Given the description of an element on the screen output the (x, y) to click on. 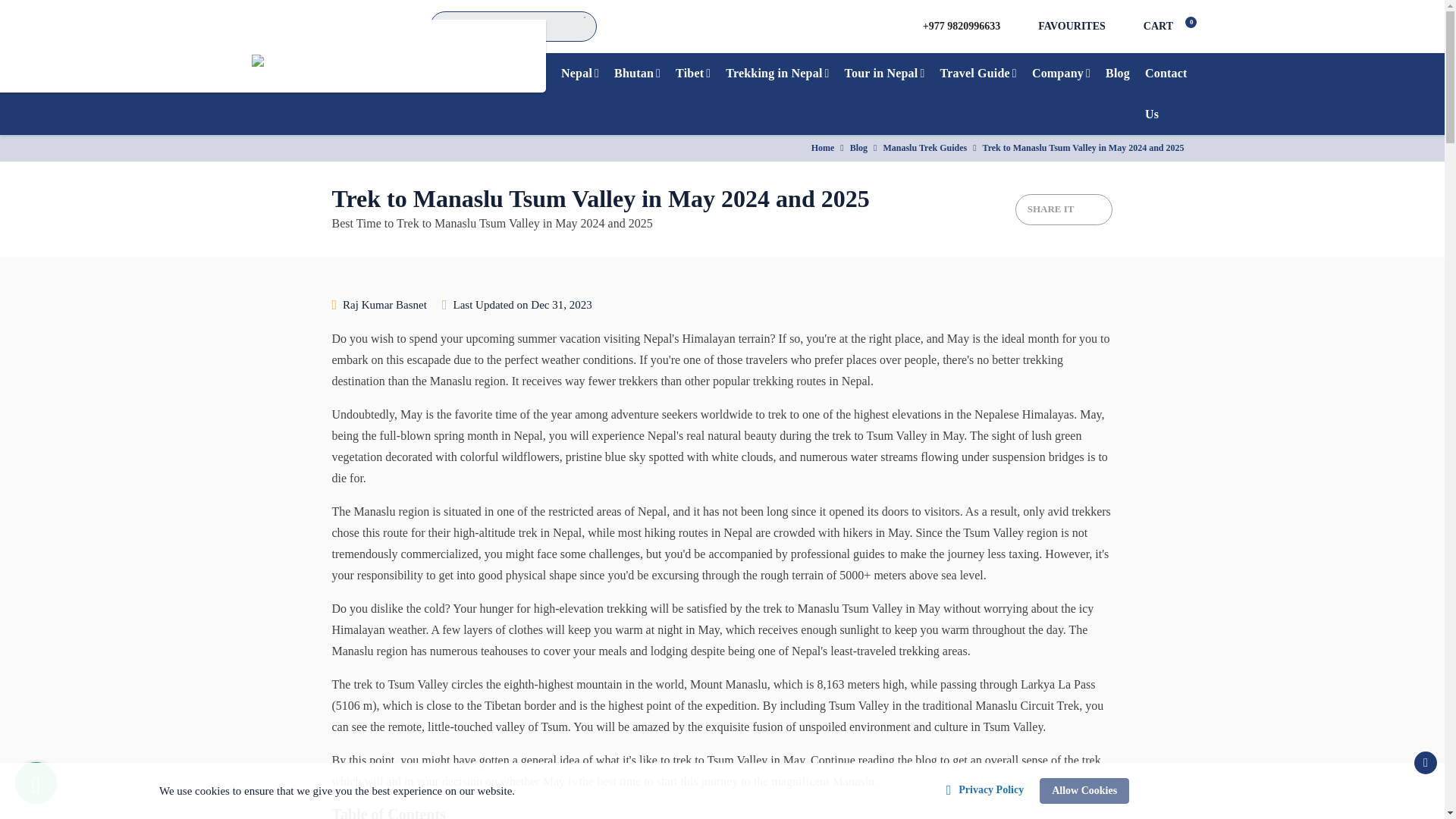
Nepal (580, 73)
FAVOURITES (1083, 25)
CART0 (1167, 25)
